Given the description of an element on the screen output the (x, y) to click on. 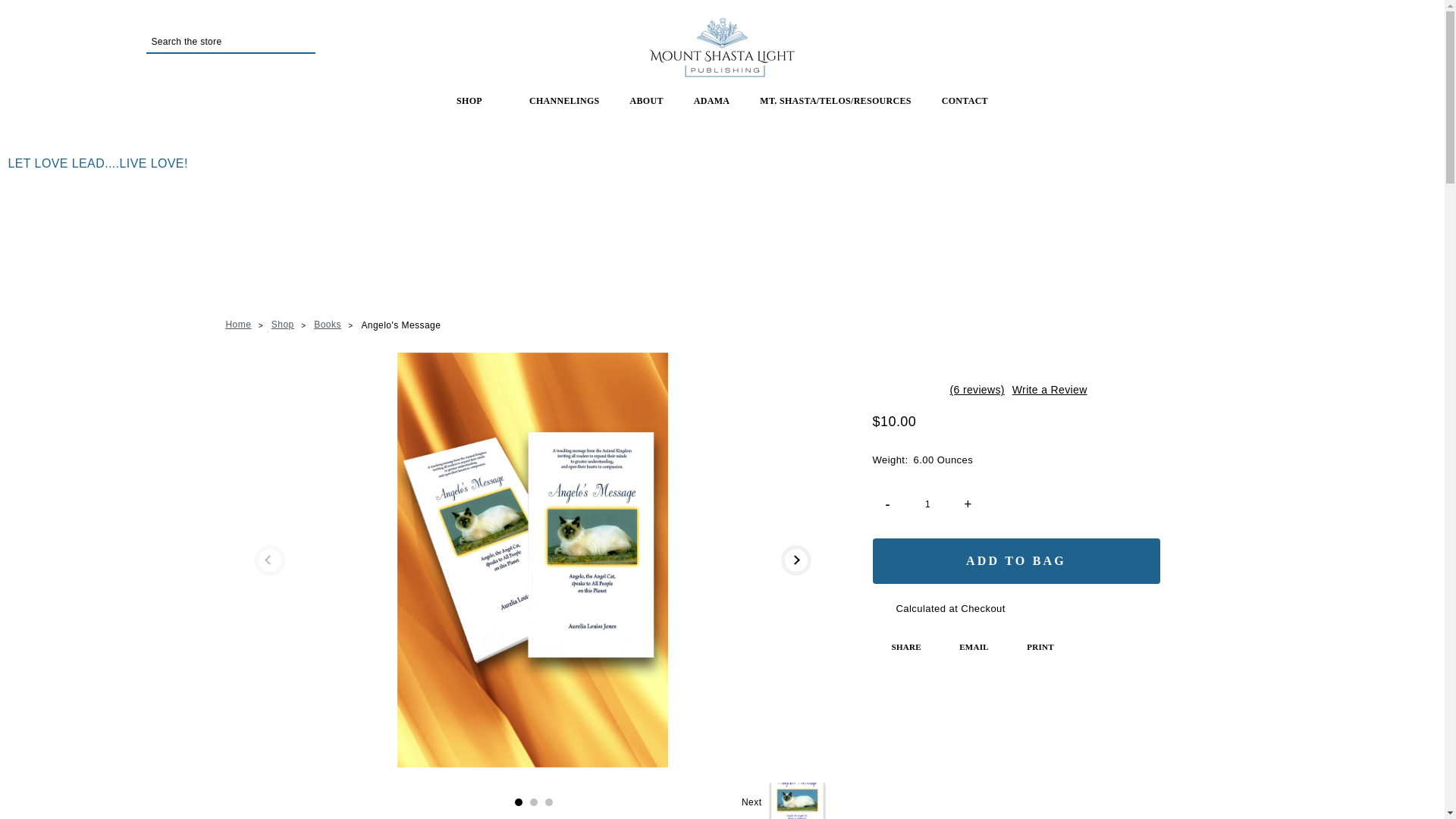
1 (518, 801)
Print (1030, 646)
NEXT (795, 560)
Books (327, 322)
Increase Quantity (967, 503)
Shop (282, 322)
PREVIOUS (269, 560)
Angelo's Message (401, 322)
SEARCH (299, 41)
Email (964, 646)
